Given the description of an element on the screen output the (x, y) to click on. 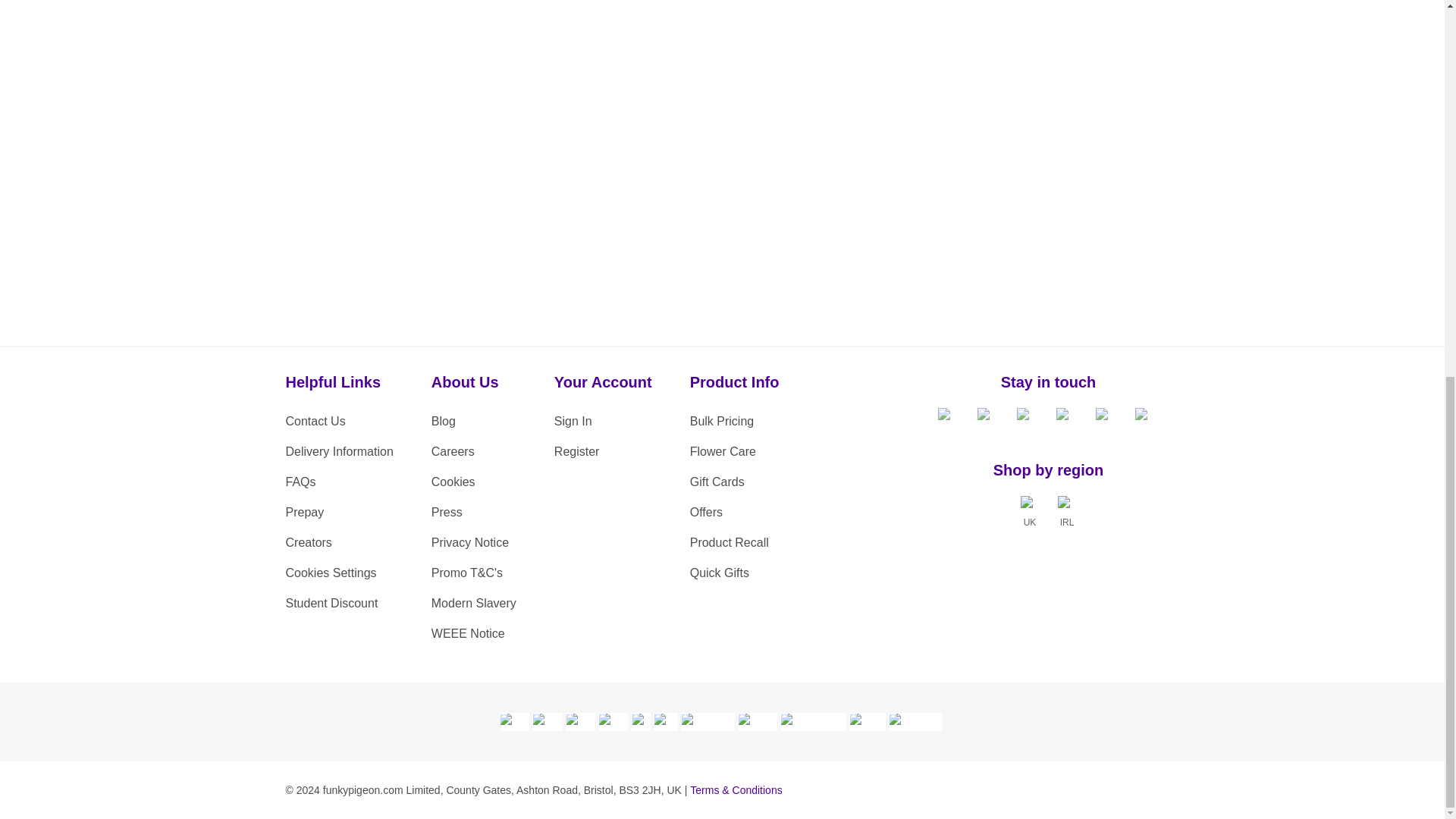
Follow us on Twitter (988, 419)
Follow us on YouTube (1106, 419)
Read our Blog (1146, 419)
Like us on Facebook (948, 419)
Follow us on Instagram (1067, 419)
Blog (473, 420)
Follow us on Pinterest (1028, 419)
